Given the description of an element on the screen output the (x, y) to click on. 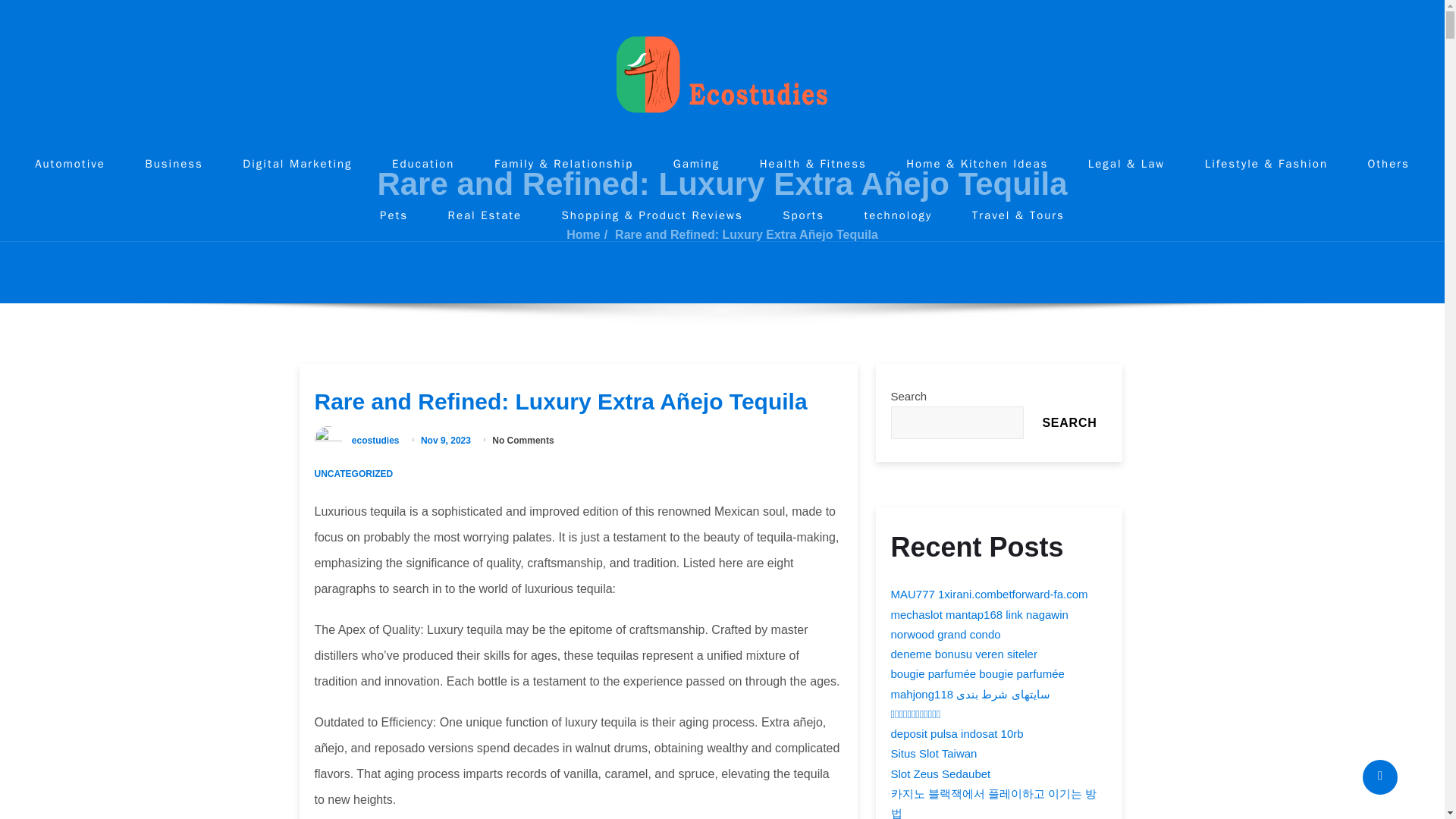
technology (898, 214)
Sports (803, 214)
Pets (393, 214)
Education (422, 163)
Pets (393, 214)
1xirani.combetforward-fa.com (1012, 594)
ecostudies (375, 439)
Others (1388, 163)
Home (582, 234)
Automotive (69, 163)
